Given the description of an element on the screen output the (x, y) to click on. 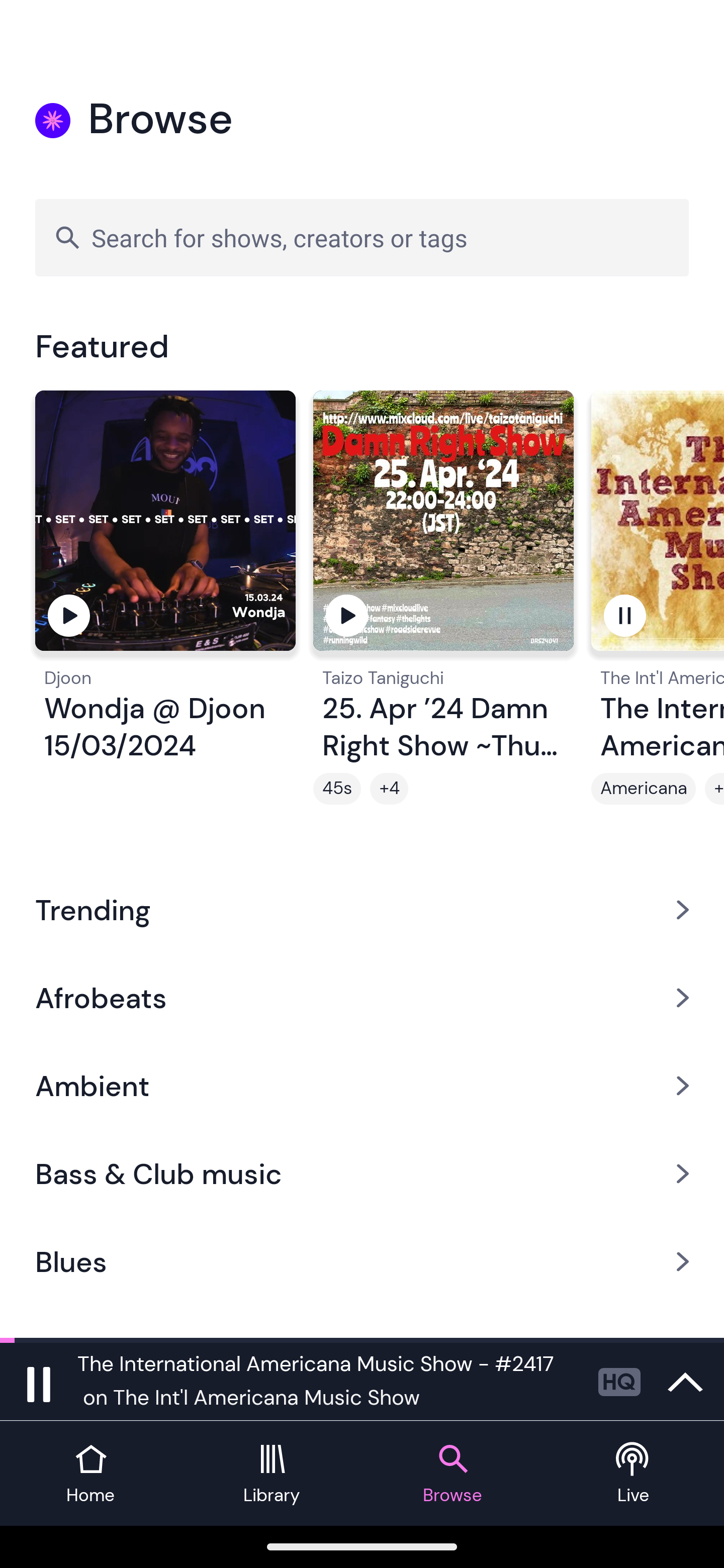
Search for shows, creators or tags (361, 237)
45s (337, 788)
Americana (643, 788)
Trending (361, 909)
Afrobeats (361, 997)
Ambient (361, 1085)
Bass & Club music (361, 1174)
Blues (361, 1262)
Home tab Home (90, 1473)
Library tab Library (271, 1473)
Browse tab Browse (452, 1473)
Live tab Live (633, 1473)
